Given the description of an element on the screen output the (x, y) to click on. 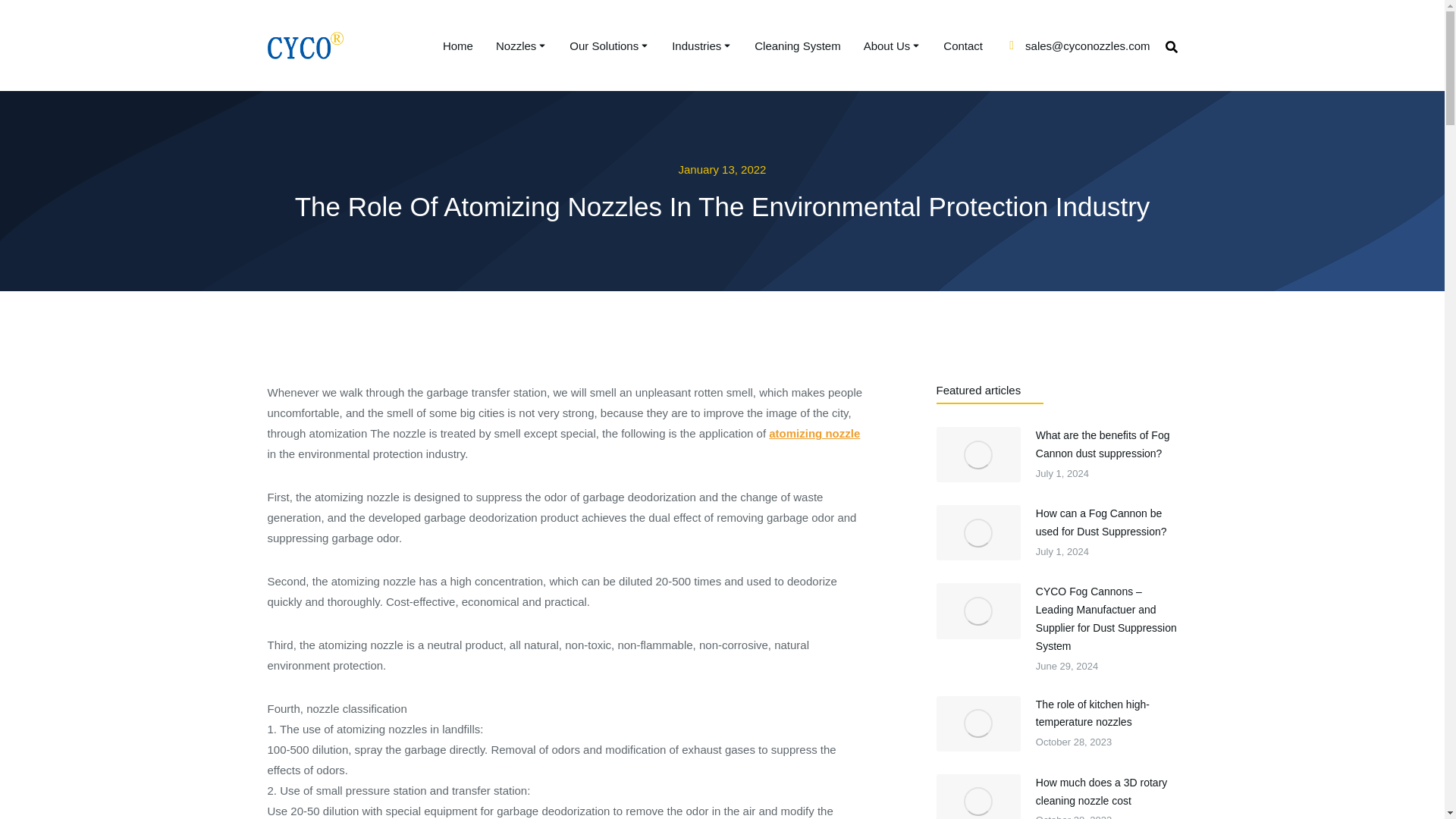
How can a Fog Cannon be used for Dust Suppression? (1106, 523)
Nozzles (521, 44)
Home (457, 44)
How much does a 3D rotary cleaning nozzle cost (1106, 791)
The role of kitchen high-temperature nozzles (1106, 714)
Our Solutions (609, 44)
What are the benefits of Fog Cannon dust suppression? (1106, 444)
